Given the description of an element on the screen output the (x, y) to click on. 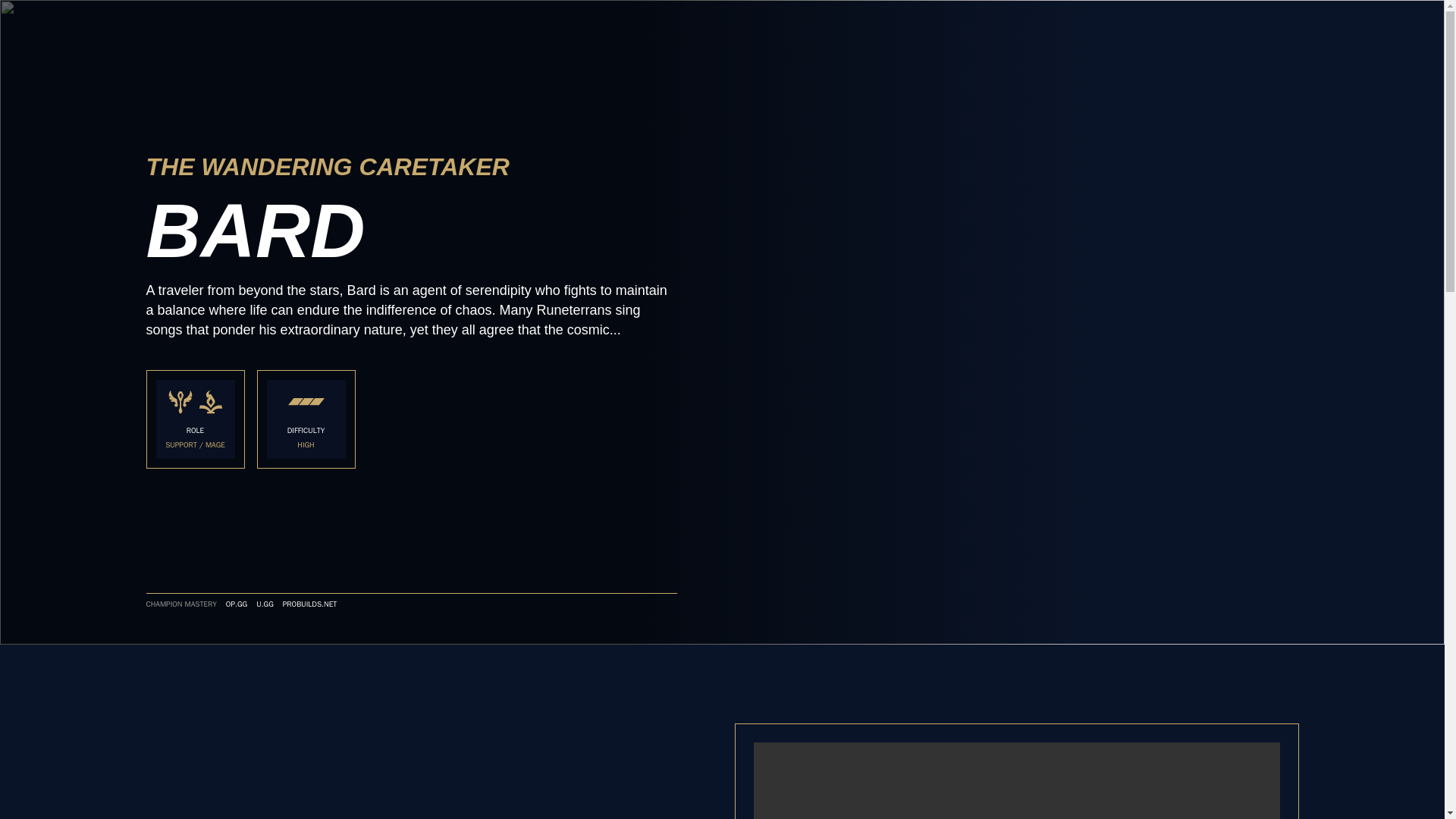
mage-icon (210, 401)
U.GG (264, 603)
difficulty-3-icon (306, 401)
PROBUILDS.NET (309, 603)
OP.GG (236, 603)
support-icon (180, 401)
